Given the description of an element on the screen output the (x, y) to click on. 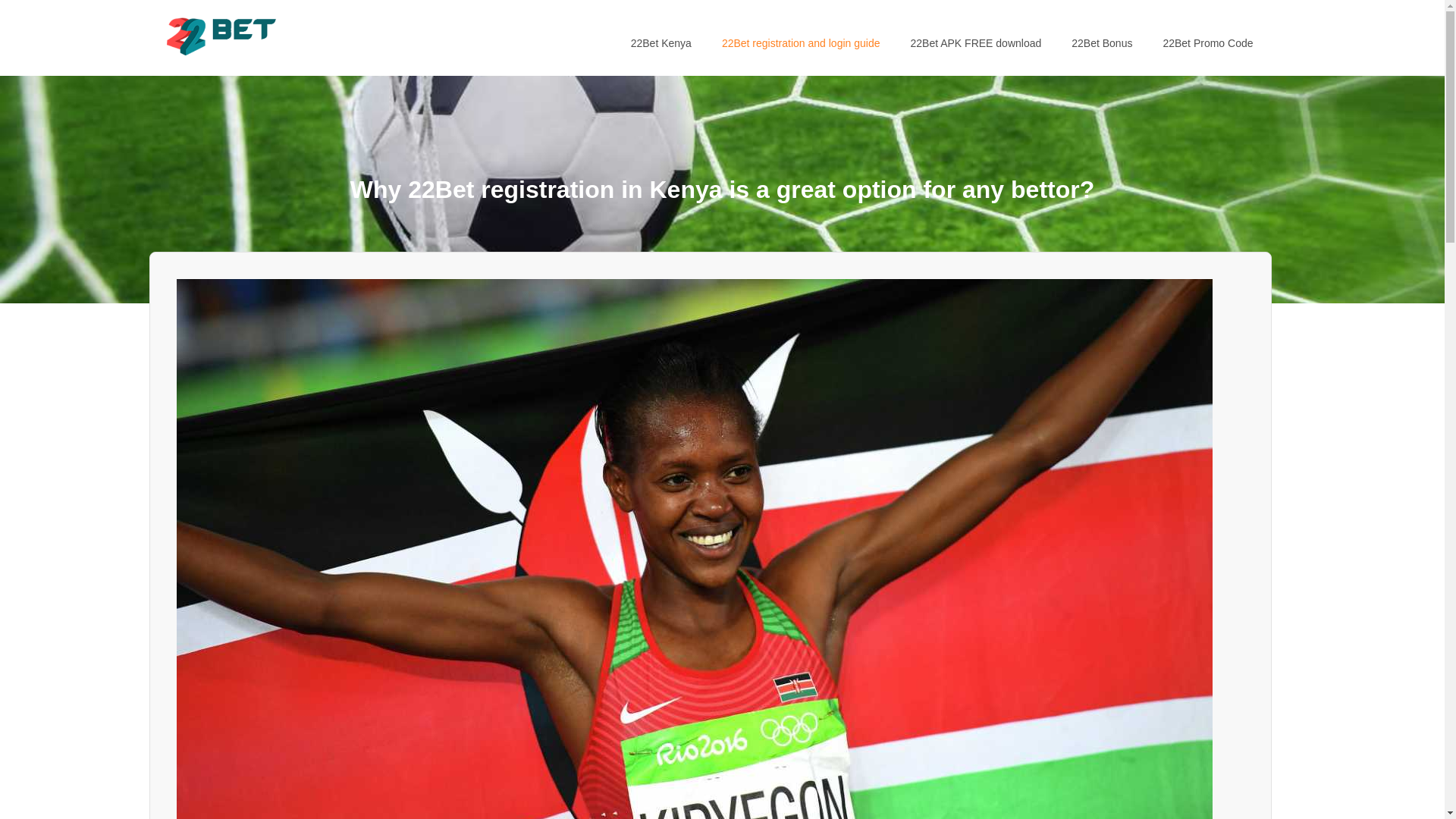
22Bet Promo Code Element type: text (1207, 43)
22bet-bookmaker-ke.com Element type: text (232, 66)
22Bet Bonus Element type: text (1101, 43)
Skip to content Element type: text (163, 37)
22Bet registration and login guide Element type: text (800, 43)
22Bet Kenya Element type: text (660, 43)
22Bet APK FREE download Element type: text (975, 43)
